Given the description of an element on the screen output the (x, y) to click on. 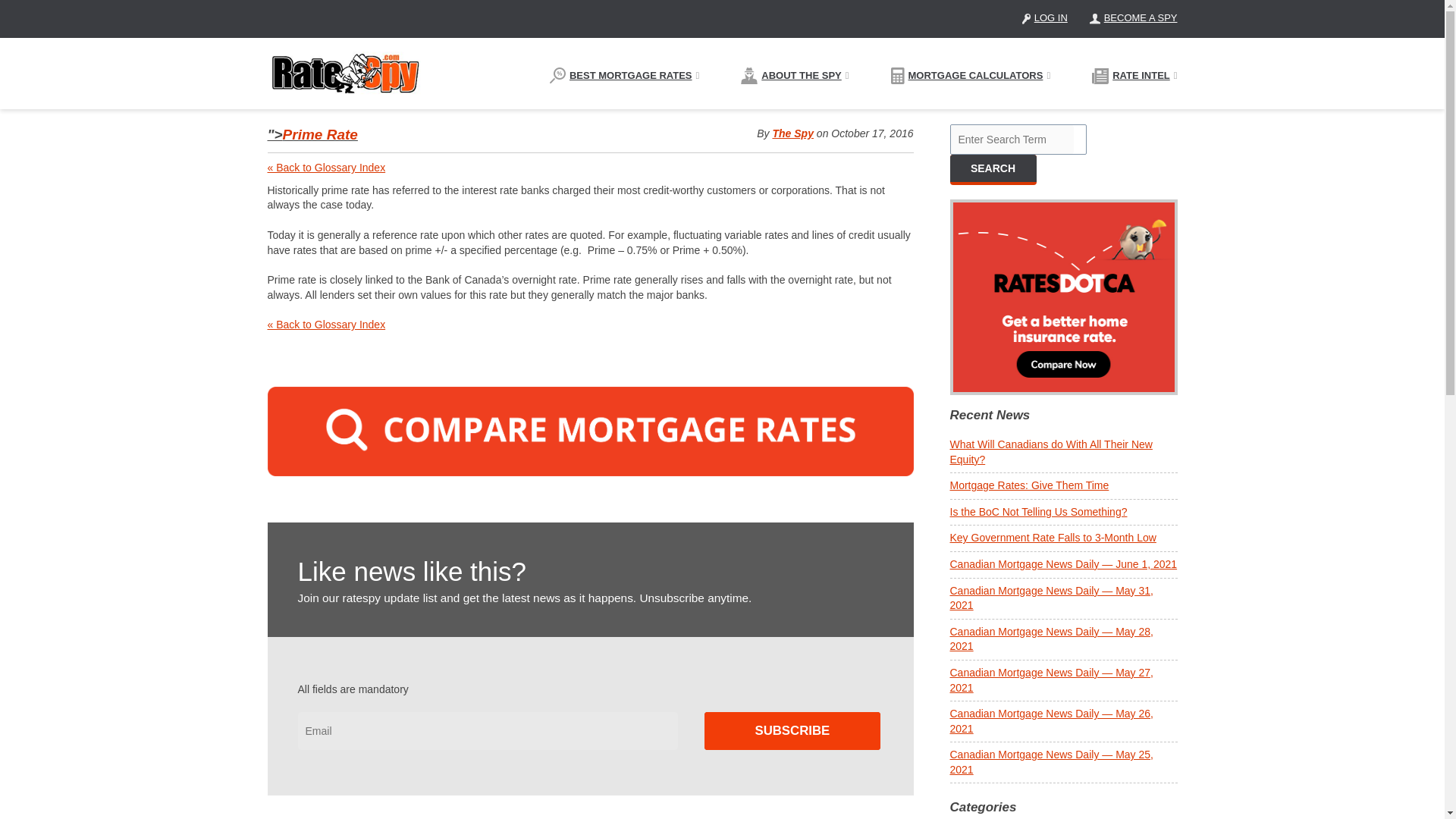
Subscribe (792, 730)
Posts by The Spy (791, 133)
BEST MORTGAGE RATES (624, 75)
BECOME A SPY (1133, 17)
search (992, 167)
LOG IN (1044, 17)
